Given the description of an element on the screen output the (x, y) to click on. 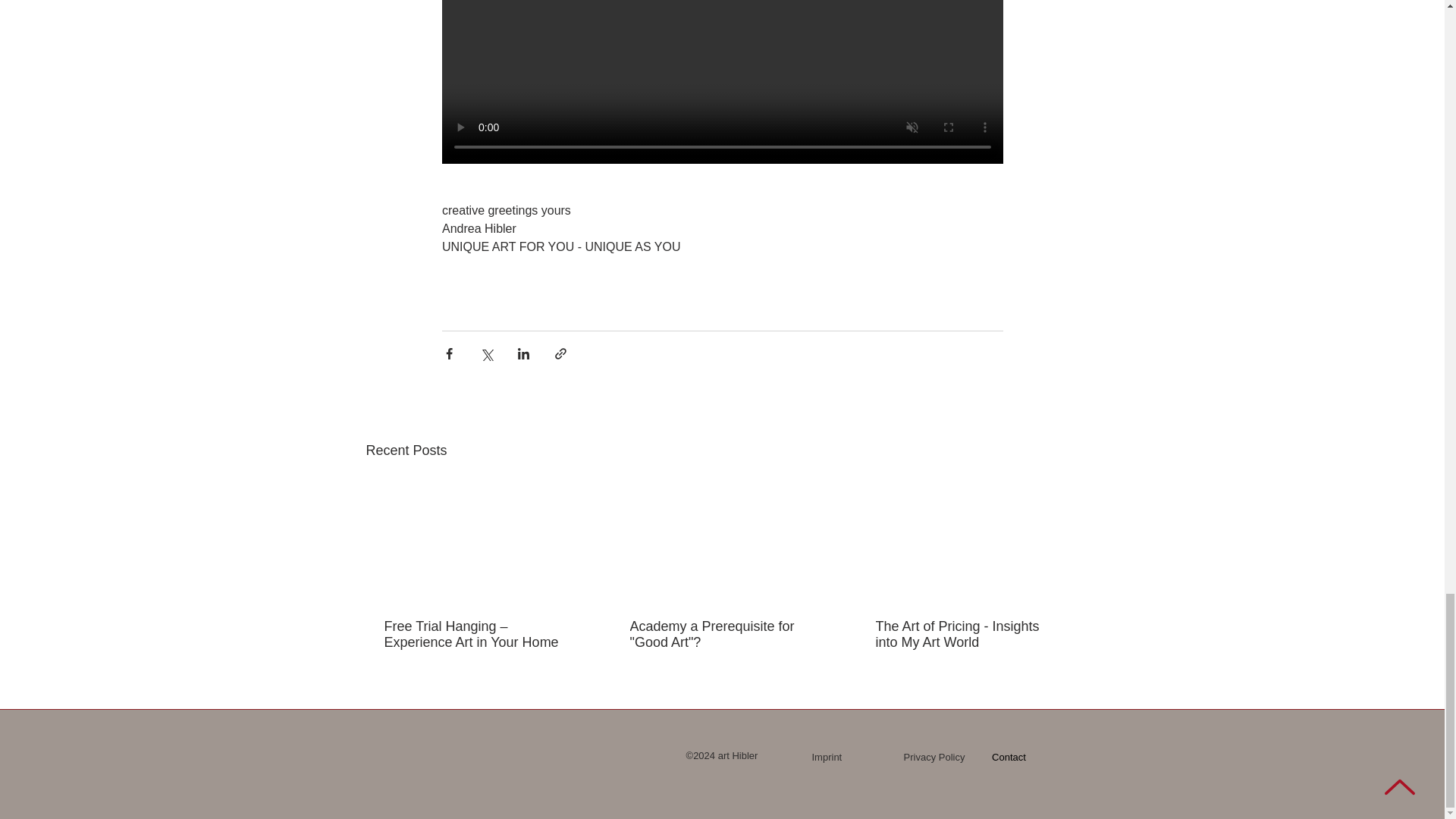
Academy a Prerequisite for "Good Art"? (720, 634)
The Art of Pricing - Insights into My Art World (966, 634)
Imprint (825, 756)
Privacy Policy (934, 756)
Contact (1008, 756)
